Given the description of an element on the screen output the (x, y) to click on. 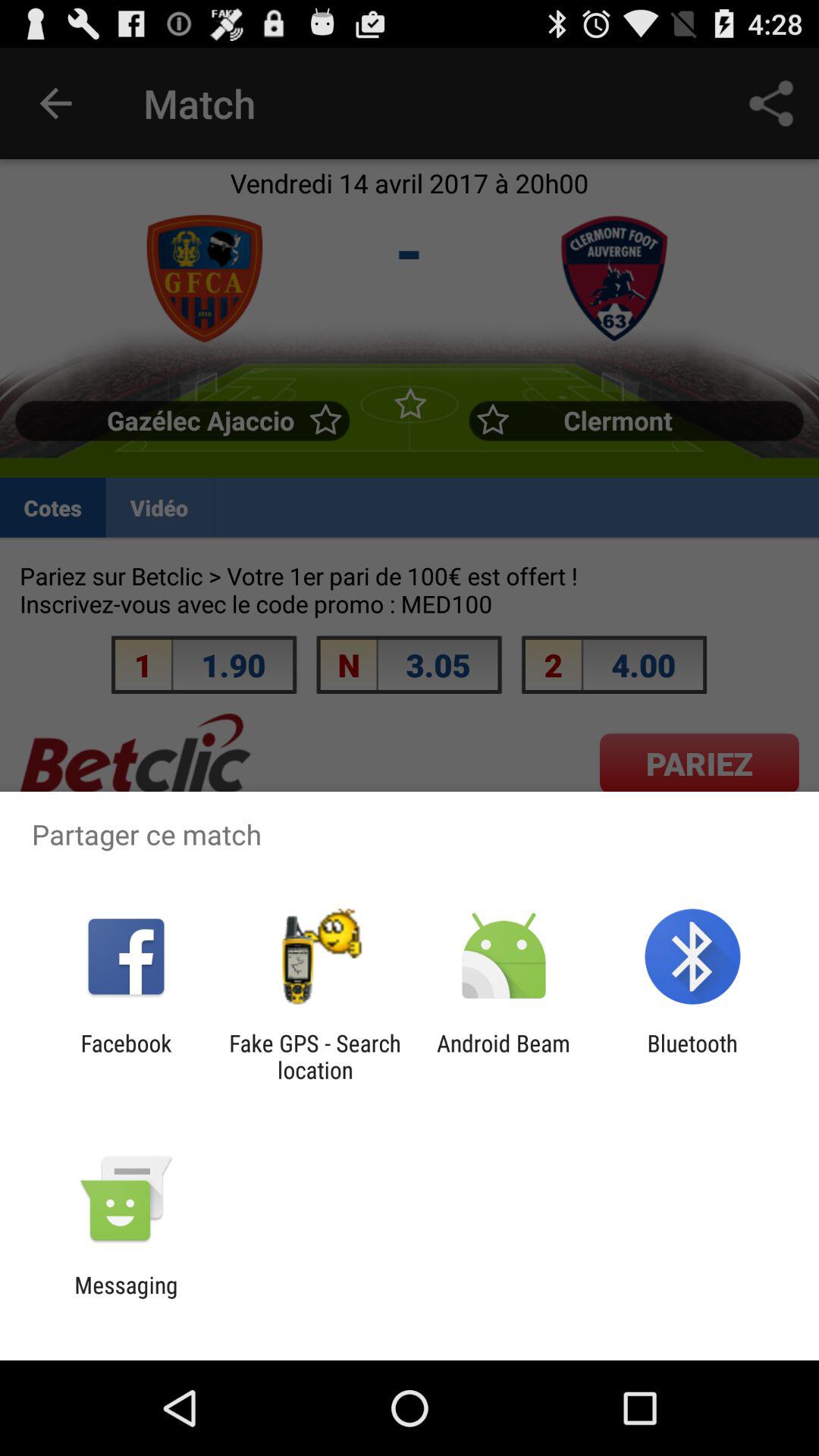
turn off the item to the left of the android beam (314, 1056)
